Given the description of an element on the screen output the (x, y) to click on. 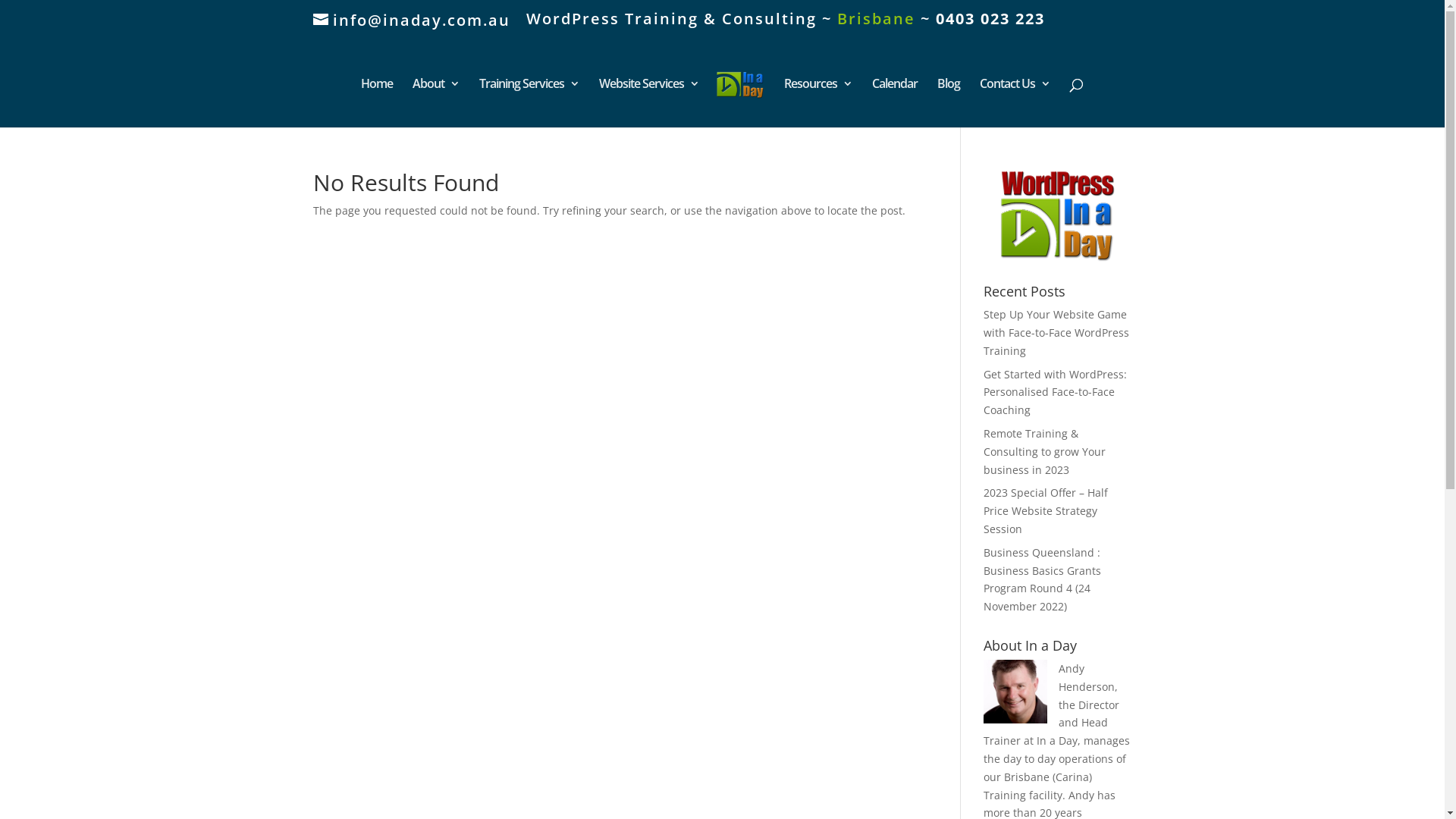
Resources Element type: text (818, 102)
0403 023 223 Element type: text (989, 18)
info@inaday.com.au Element type: text (410, 19)
Remote Training & Consulting to grow Your business in 2023 Element type: text (1044, 451)
Contact Us Element type: text (1014, 102)
Blog Element type: text (948, 102)
Calendar Element type: text (894, 102)
Home Element type: text (376, 102)
Training Services Element type: text (529, 102)
About Element type: text (435, 102)
Website Services Element type: text (649, 102)
